Given the description of an element on the screen output the (x, y) to click on. 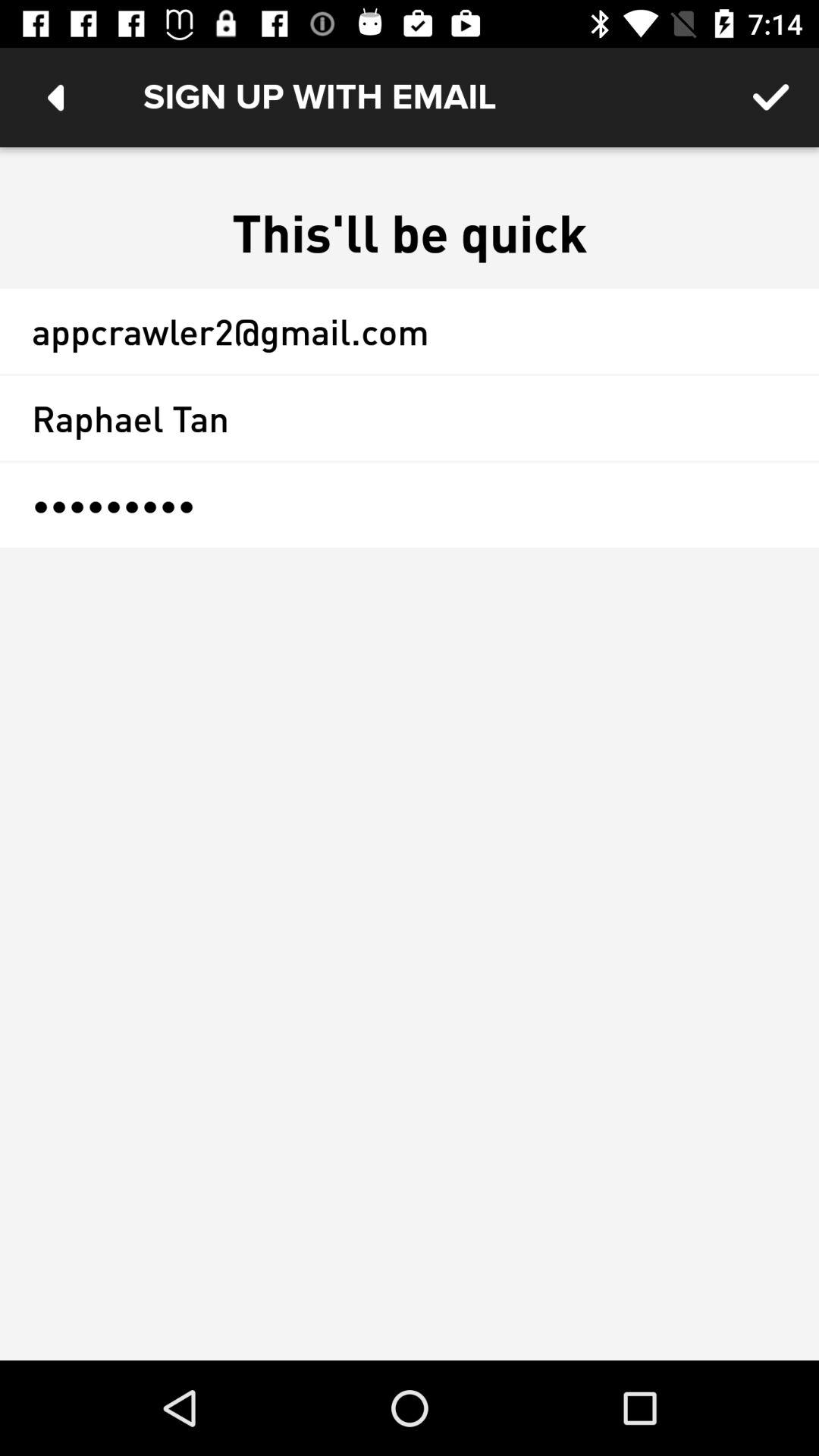
click icon above the this ll be (771, 97)
